Given the description of an element on the screen output the (x, y) to click on. 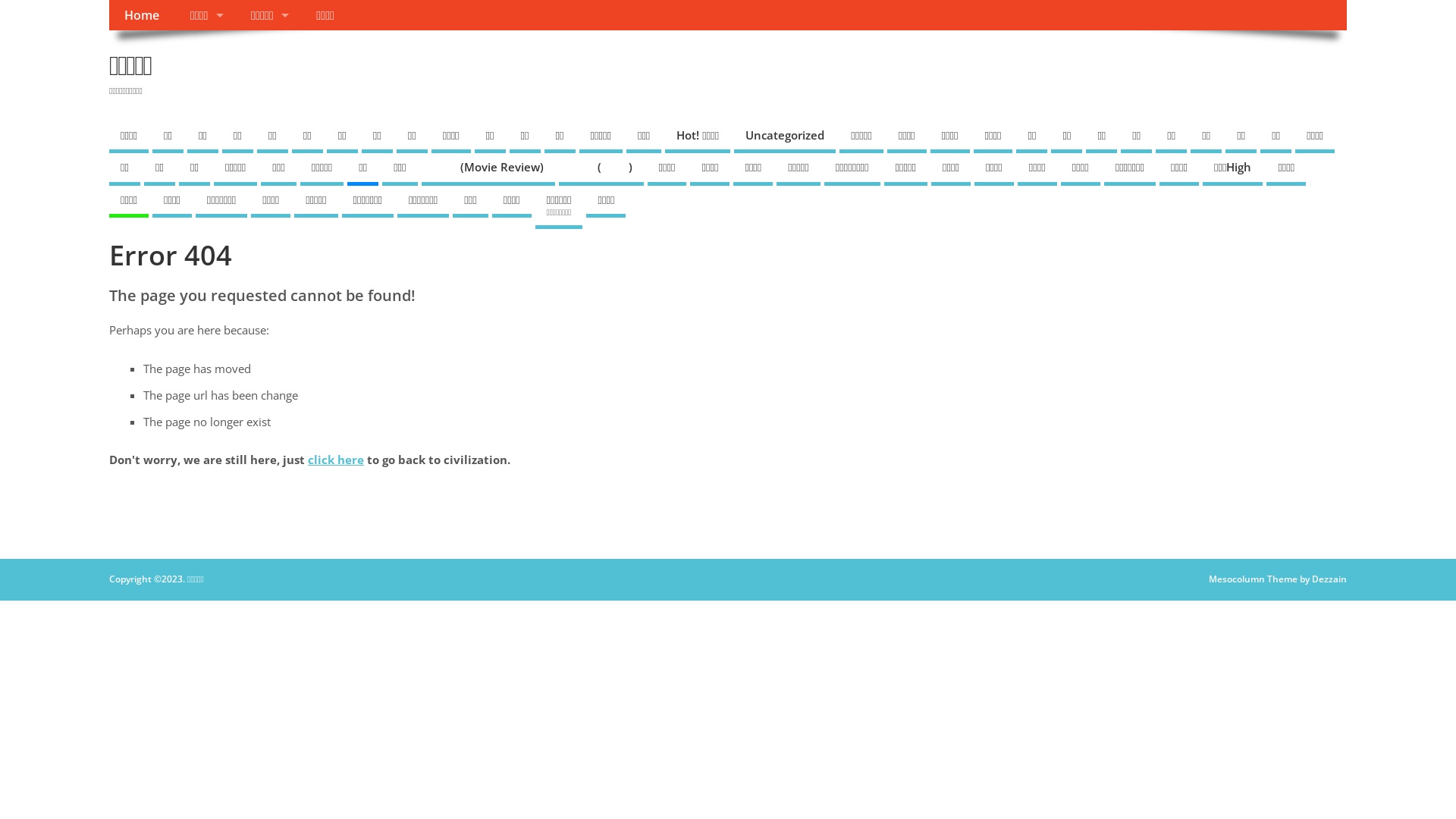
Home Element type: text (142, 15)
click here Element type: text (335, 459)
Uncategorized Element type: text (784, 137)
